Given the description of an element on the screen output the (x, y) to click on. 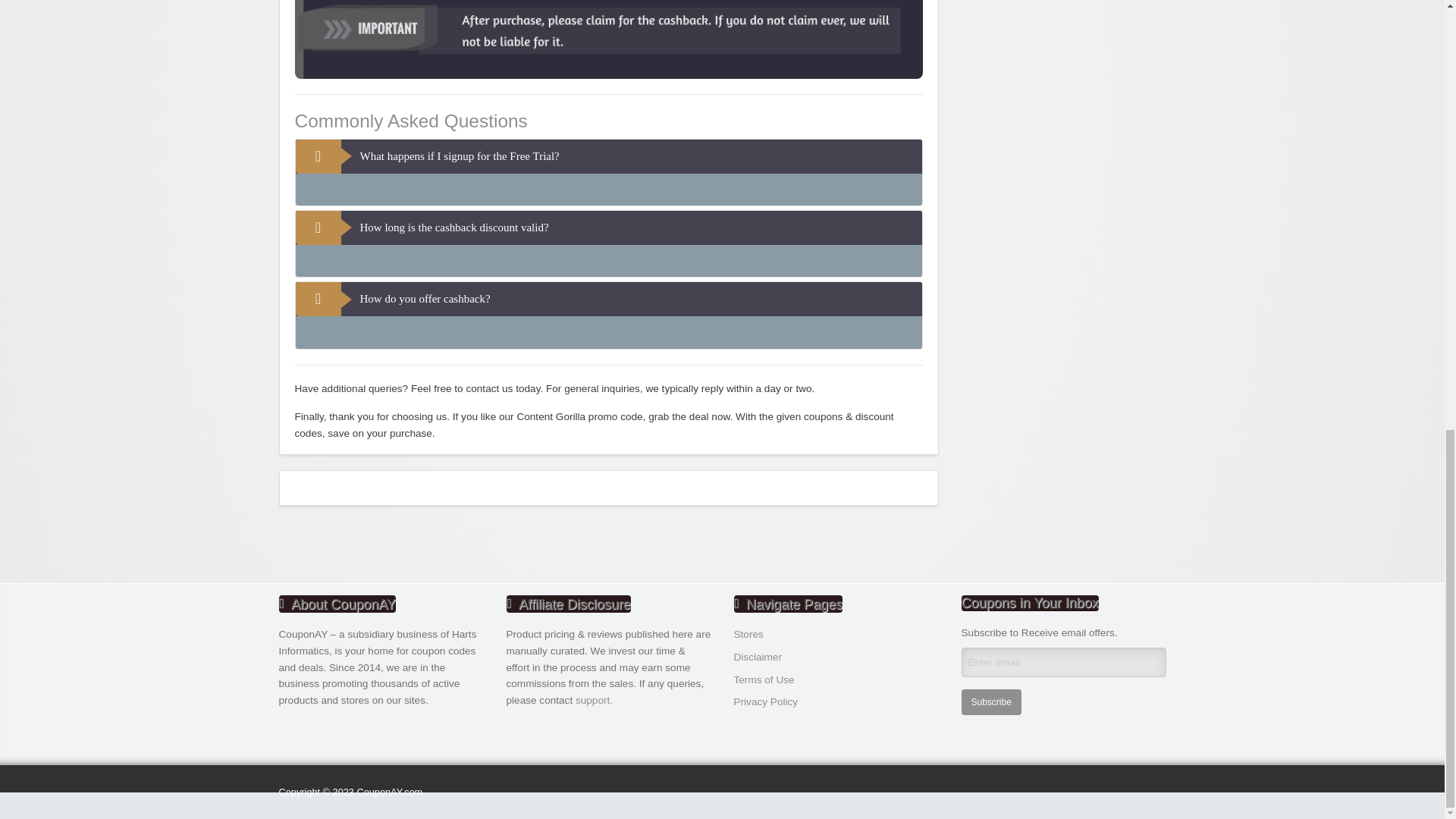
support. (593, 699)
Subscribe (991, 701)
How long is the cashback discount valid? (608, 227)
Privacy Policy (765, 701)
Disclaimer (757, 656)
How do you offer cashback? (608, 298)
Terms of Use (763, 679)
What happens if I signup for the Free Trial? (608, 156)
Stores (747, 633)
